Given the description of an element on the screen output the (x, y) to click on. 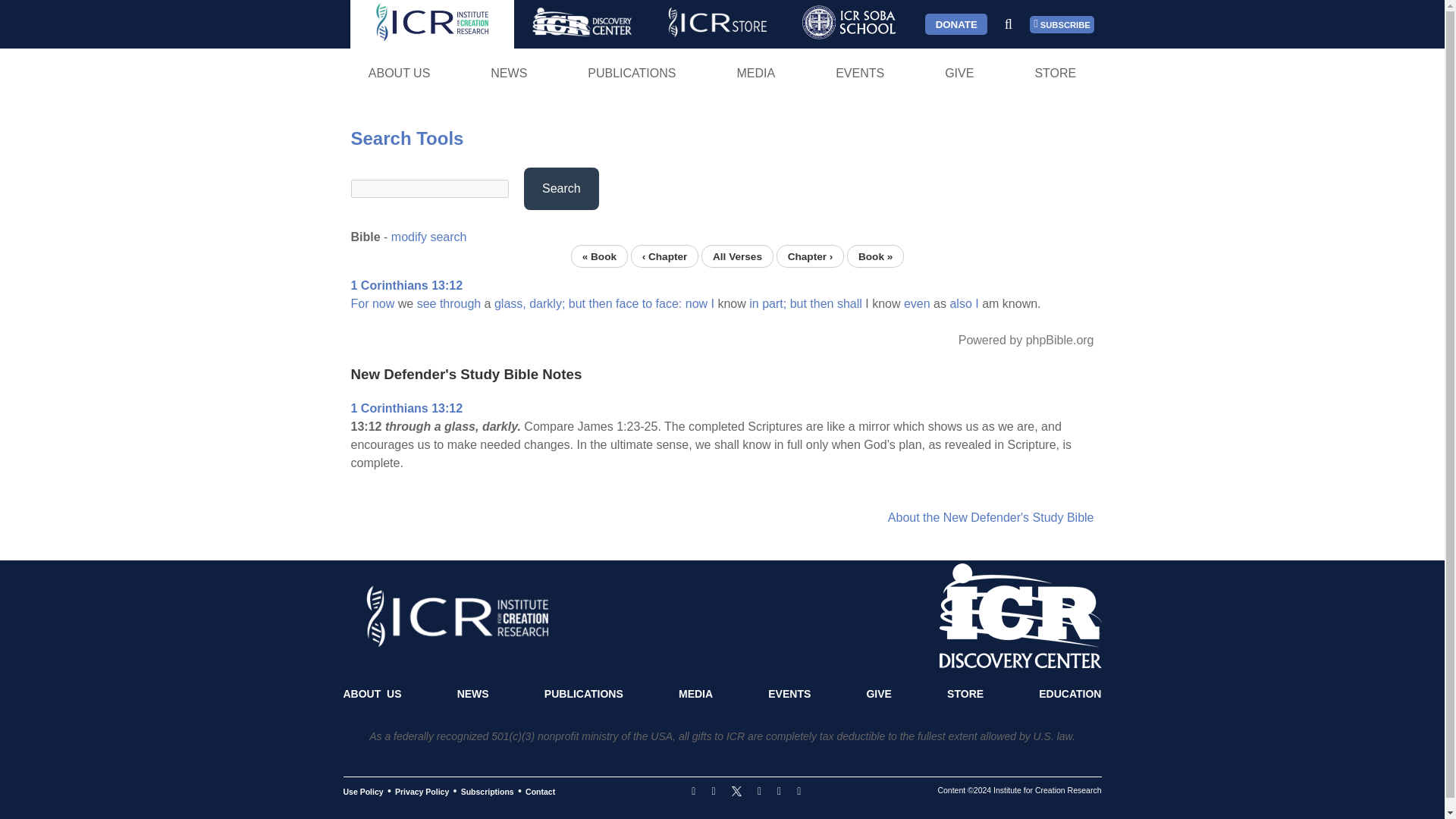
SUBSCRIBE (1061, 24)
NEWS (508, 73)
Click here for more on the New Defender's Study Bible (991, 517)
ABOUT US (399, 73)
PUBLICATIONS (631, 73)
DONATE (955, 24)
